Given the description of an element on the screen output the (x, y) to click on. 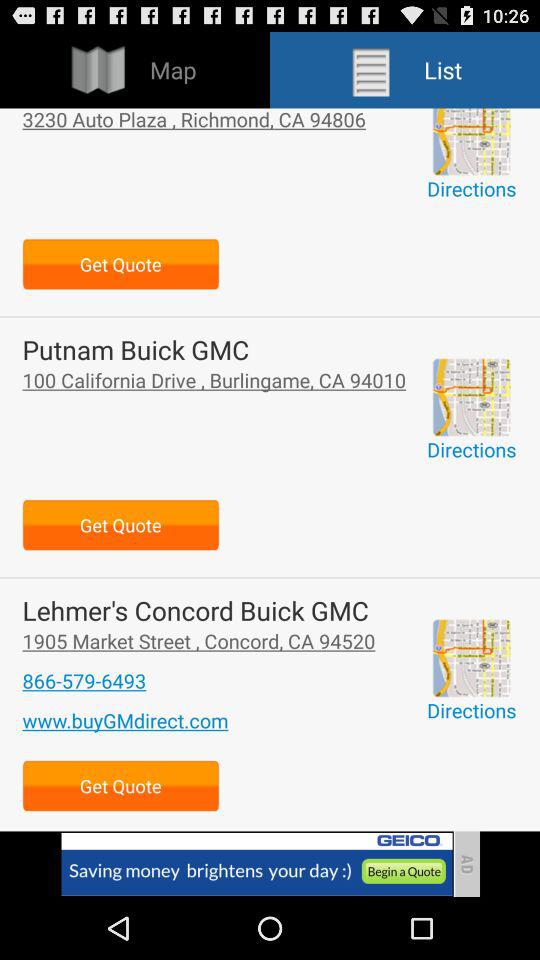
go to direction (471, 397)
